Given the description of an element on the screen output the (x, y) to click on. 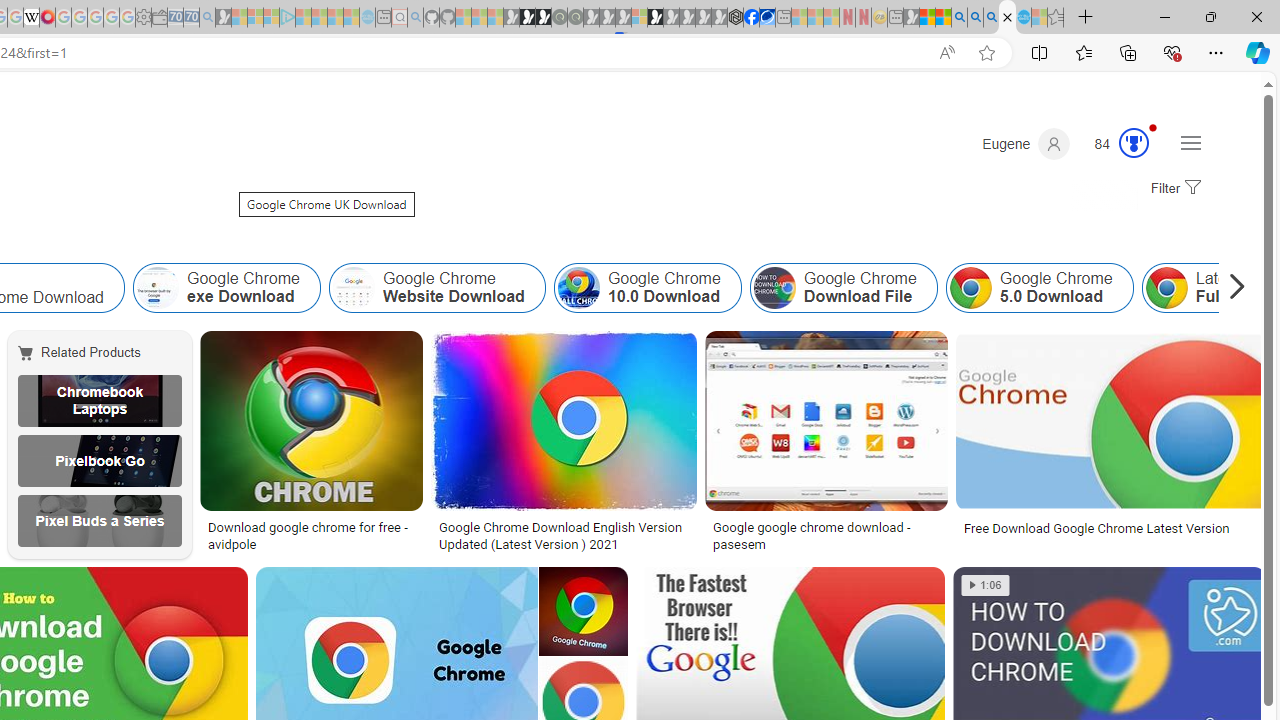
Animation (1153, 127)
AutomationID: rh_meter (1133, 142)
Google Chrome exe Download (226, 287)
Filter (1173, 189)
Google Chrome Download File (843, 287)
Free Download Google Chrome Latest Version (1110, 528)
Play Zoo Boom in your browser | Games from Microsoft Start (527, 17)
Chromebook Laptops (99, 400)
Google Chrome exe Download (157, 287)
